Given the description of an element on the screen output the (x, y) to click on. 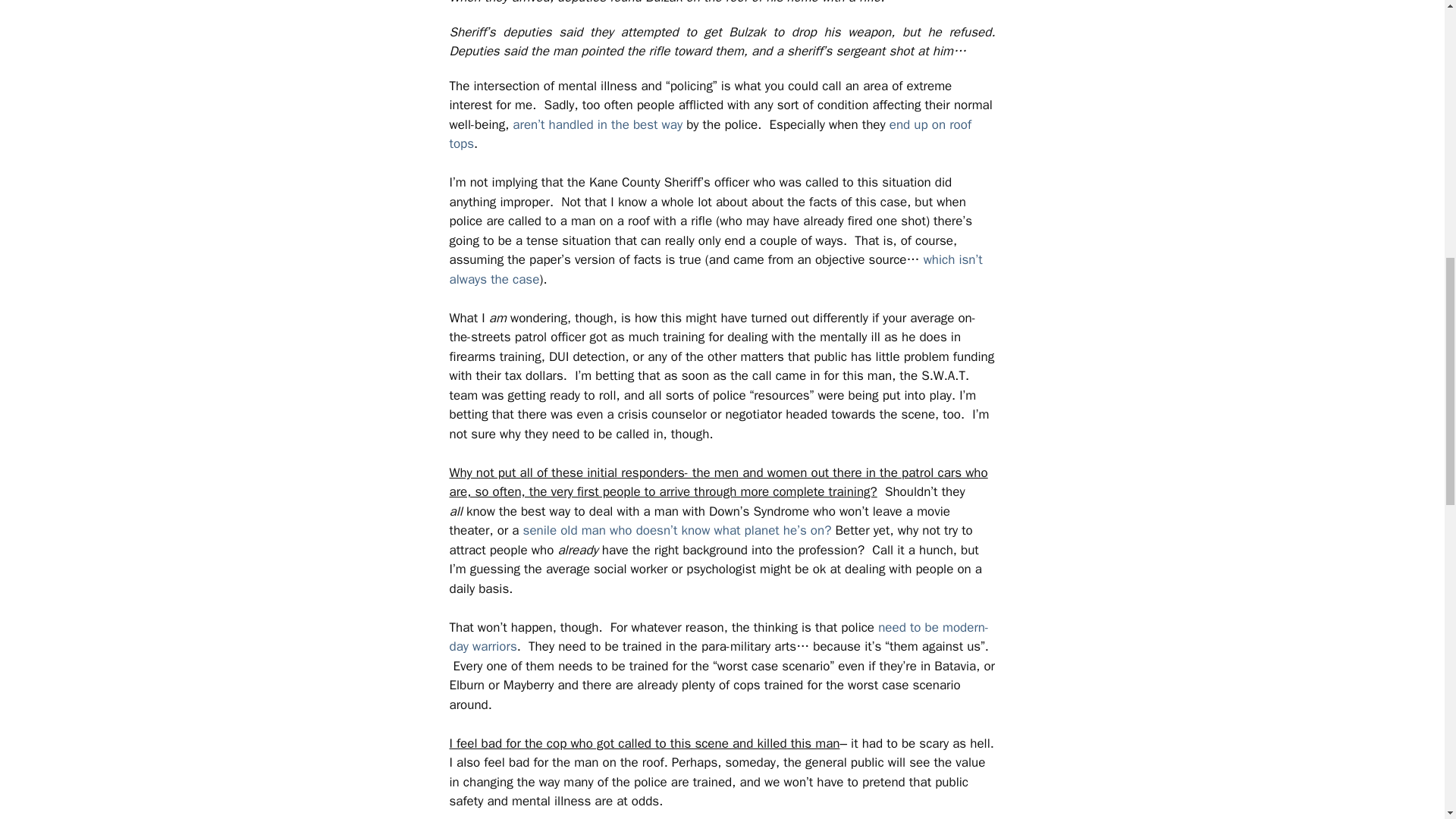
Scroll back to top (1406, 720)
